Given the description of an element on the screen output the (x, y) to click on. 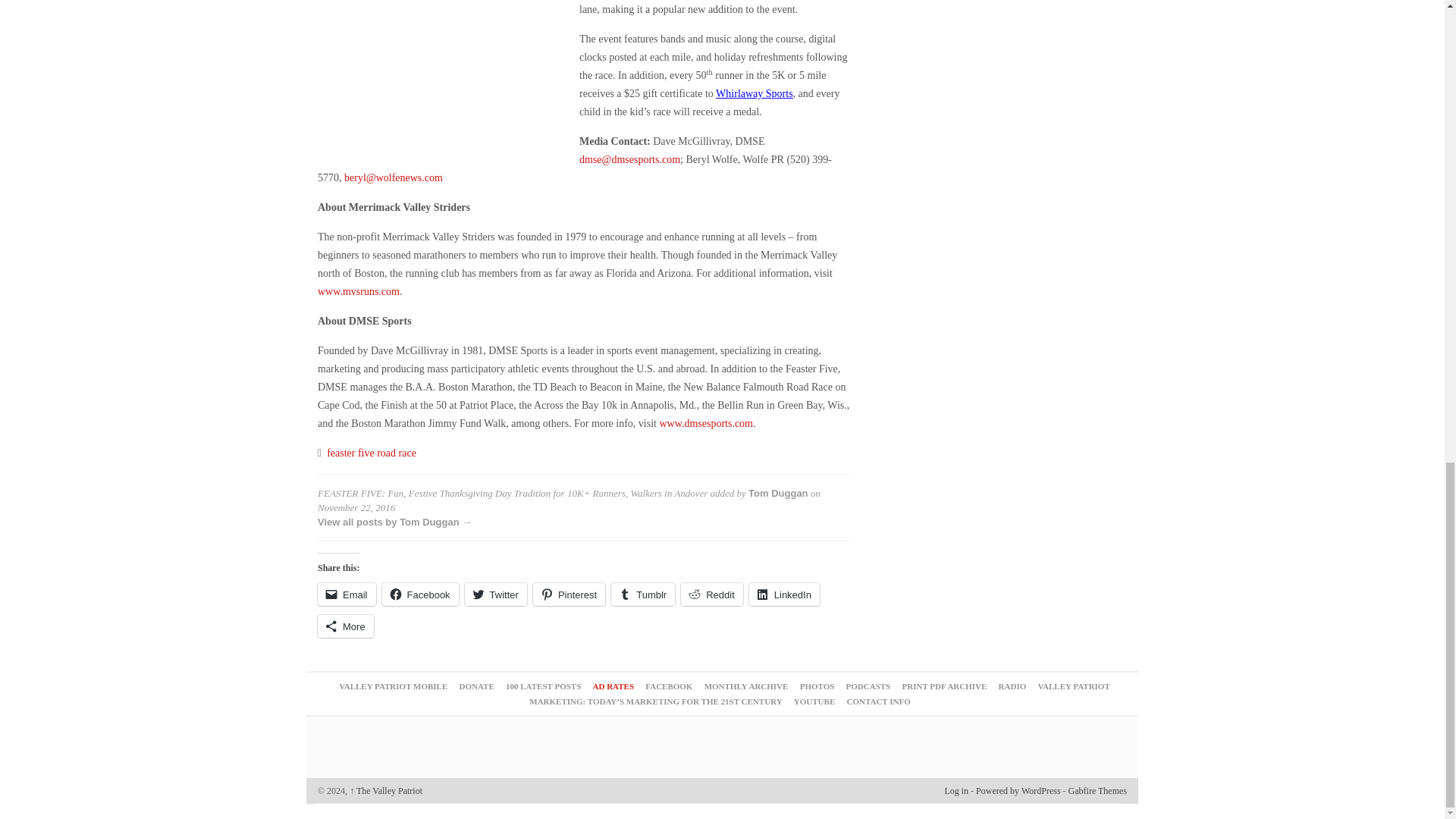
Click to share on Reddit (711, 594)
Click to share on LinkedIn (784, 594)
Click to share on Facebook (419, 594)
Click to email a link to a friend (346, 594)
Click to share on Pinterest (568, 594)
Semantic Personal Publishing Platform (1017, 790)
Click to share on Twitter (495, 594)
The Valley Patriot (385, 790)
Click to share on Tumblr (643, 594)
